Given the description of an element on the screen output the (x, y) to click on. 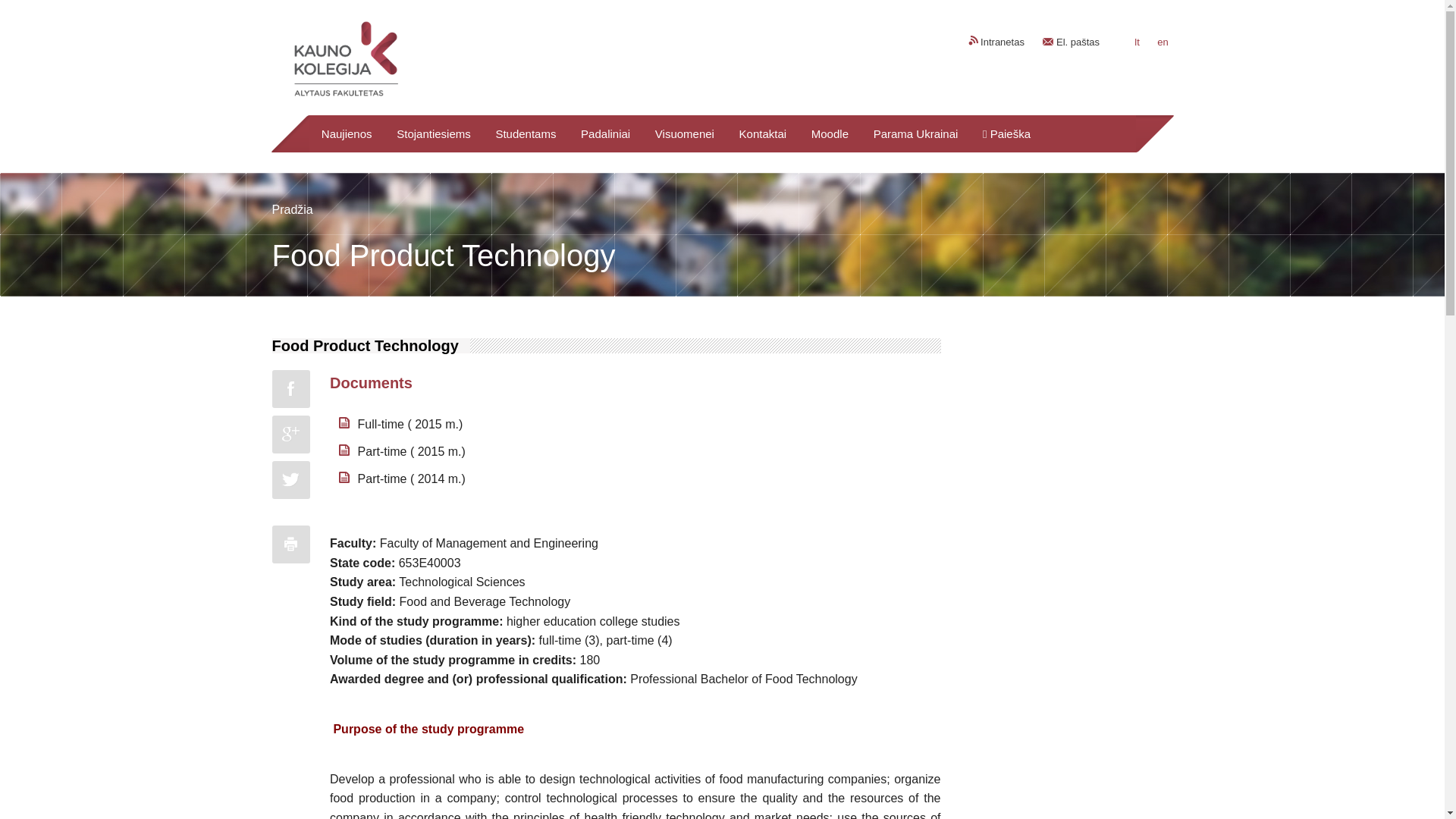
Stojantiesiems (433, 133)
Studentams (526, 133)
en (1162, 41)
Naujienos (346, 133)
Intranetas (995, 41)
lt (1136, 41)
